Given the description of an element on the screen output the (x, y) to click on. 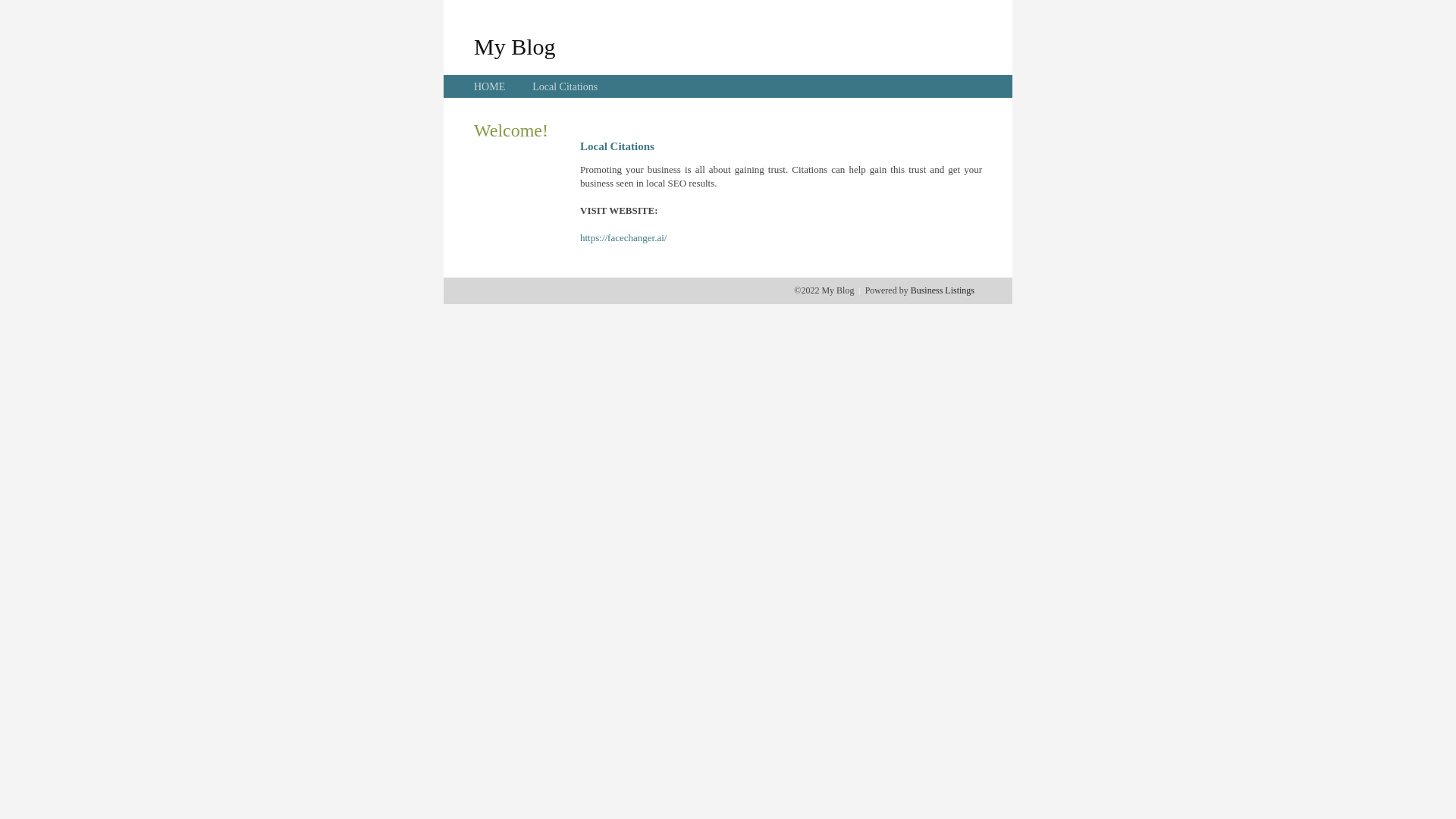
HOME Element type: text (489, 86)
My Blog Element type: text (514, 46)
Business Listings Element type: text (942, 290)
Local Citations Element type: text (564, 86)
https://facechanger.ai/ Element type: text (623, 237)
